Given the description of an element on the screen output the (x, y) to click on. 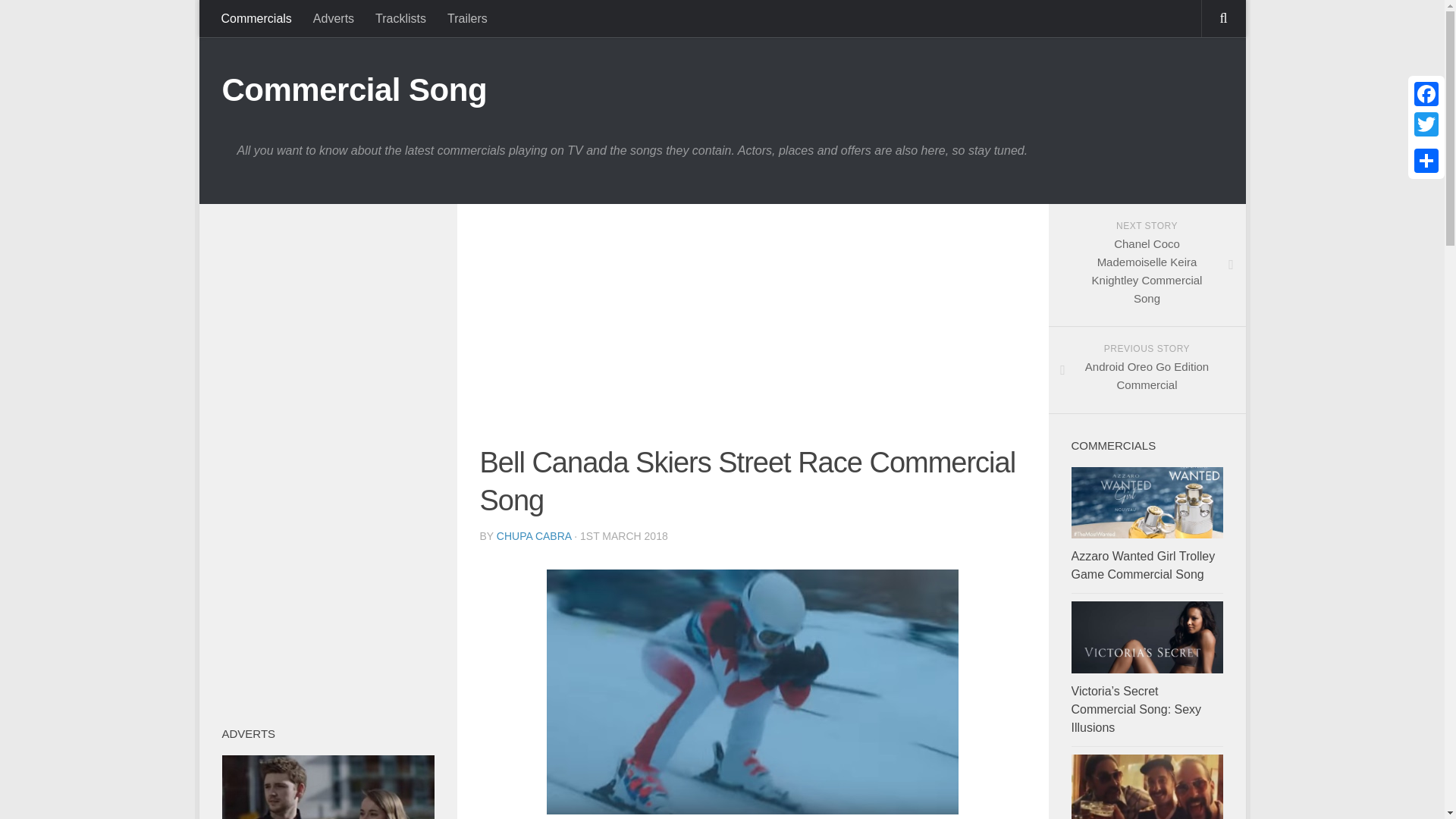
Commercial Song (353, 90)
Tracklists (400, 18)
Advertisement (752, 332)
Trailers (1146, 370)
Posts by Chupa Cabra (466, 18)
Azzaro Wanted Girl Trolley Game Commercial Song (534, 535)
CHUPA CABRA (1142, 564)
Commercials (534, 535)
